Given the description of an element on the screen output the (x, y) to click on. 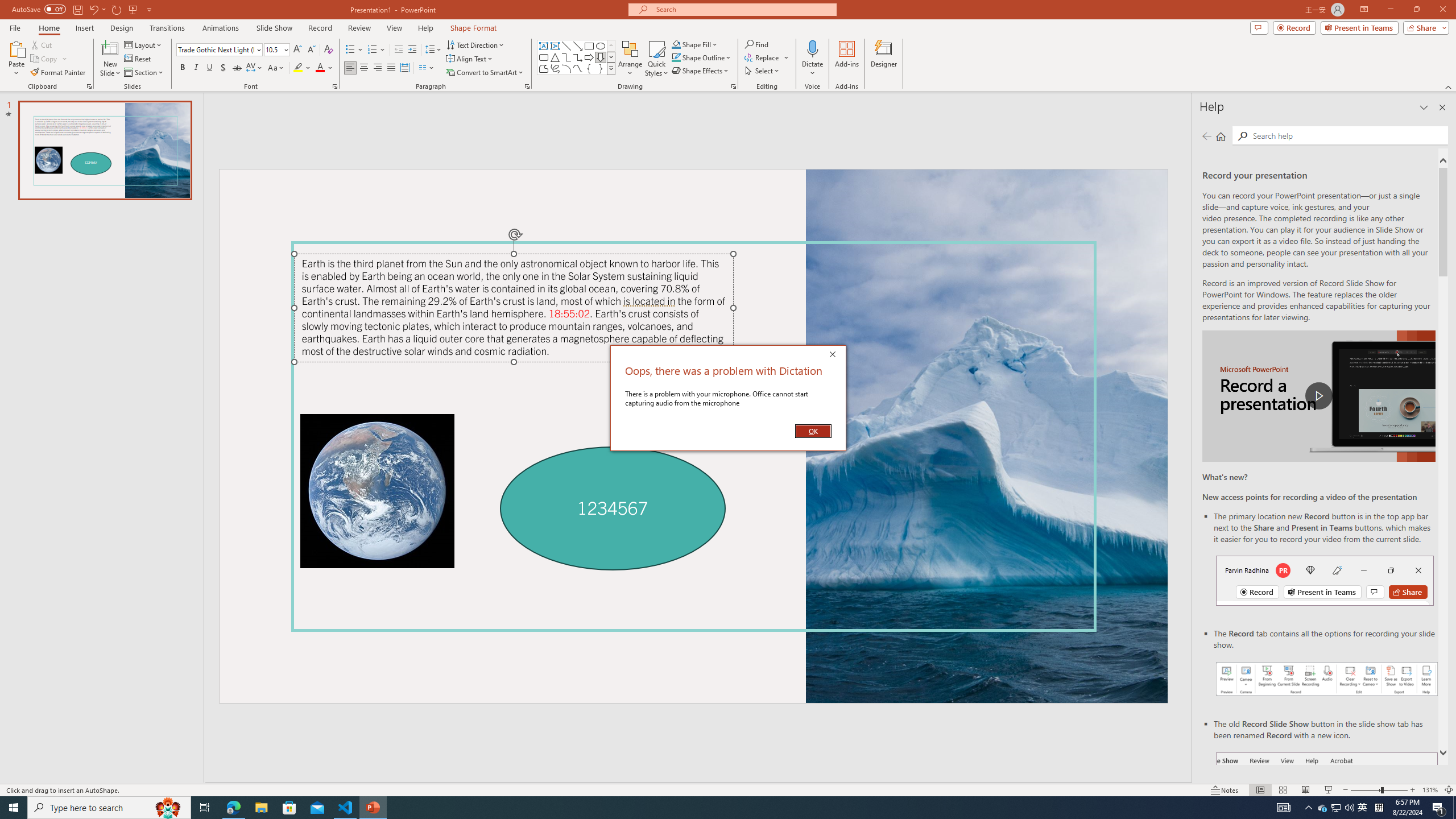
Shape Format (473, 28)
Layout (143, 44)
AutomationID: 4105 (1283, 807)
Search (1347, 135)
Replace... (767, 56)
Q2790: 100% (1349, 807)
View (395, 28)
Shape Fill Aqua, Accent 2 (675, 44)
Arrow: Right (589, 57)
Rectangle: Rounded Corners (543, 57)
Align Left (349, 67)
Curve (577, 68)
Design (122, 28)
